Given the description of an element on the screen output the (x, y) to click on. 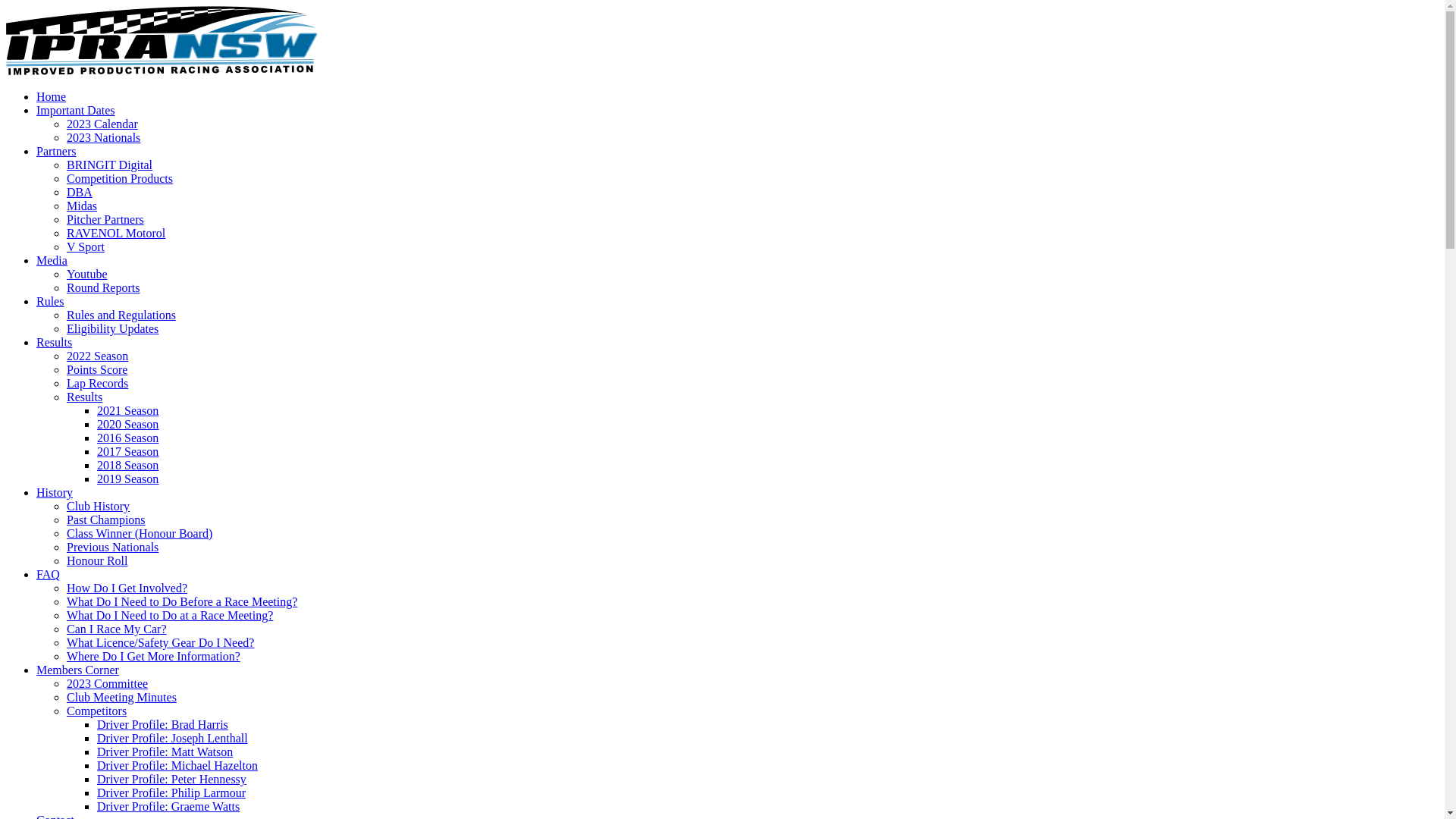
What Do I Need to Do Before a Race Meeting? Element type: text (181, 601)
Can I Race My Car? Element type: text (116, 628)
Results Element type: text (84, 396)
DBA Element type: text (79, 191)
Members Corner Element type: text (77, 669)
Eligibility Updates Element type: text (112, 328)
Rules Element type: text (49, 300)
Pitcher Partners Element type: text (105, 219)
Club Meeting Minutes Element type: text (121, 696)
What Licence/Safety Gear Do I Need? Element type: text (160, 642)
Driver Profile: Brad Harris Element type: text (162, 724)
RAVENOL Motorol Element type: text (115, 232)
Driver Profile: Michael Hazelton Element type: text (177, 765)
Where Do I Get More Information? Element type: text (153, 655)
Honour Roll Element type: text (96, 560)
2016 Season Element type: text (127, 437)
Round Reports Element type: text (102, 287)
2022 Season Element type: text (97, 355)
Media Element type: text (51, 260)
Past Champions Element type: text (105, 519)
Youtube Element type: text (86, 273)
2017 Season Element type: text (127, 451)
Important Dates Element type: text (75, 109)
2019 Season Element type: text (127, 478)
2021 Season Element type: text (127, 410)
Driver Profile: Graeme Watts Element type: text (168, 806)
How Do I Get Involved? Element type: text (126, 587)
2023 Committee Element type: text (106, 683)
Partners Element type: text (55, 150)
Driver Profile: Matt Watson Element type: text (164, 751)
Points Score Element type: text (96, 369)
What Do I Need to Do at a Race Meeting? Element type: text (169, 614)
Previous Nationals Element type: text (112, 546)
Lap Records Element type: text (97, 382)
Home Element type: text (50, 96)
BRINGIT Digital Element type: text (109, 164)
2020 Season Element type: text (127, 423)
History Element type: text (54, 492)
Competitors Element type: text (96, 710)
Club History Element type: text (97, 505)
Rules and Regulations Element type: text (120, 314)
FAQ Element type: text (47, 573)
2023 Calendar Element type: text (102, 123)
Driver Profile: Joseph Lenthall Element type: text (172, 737)
Results Element type: text (54, 341)
Driver Profile: Peter Hennessy Element type: text (171, 778)
Competition Products Element type: text (119, 178)
Midas Element type: text (81, 205)
2018 Season Element type: text (127, 464)
2023 Nationals Element type: text (103, 137)
Class Winner (Honour Board) Element type: text (139, 533)
Driver Profile: Philip Larmour Element type: text (171, 792)
V Sport Element type: text (85, 246)
